Given the description of an element on the screen output the (x, y) to click on. 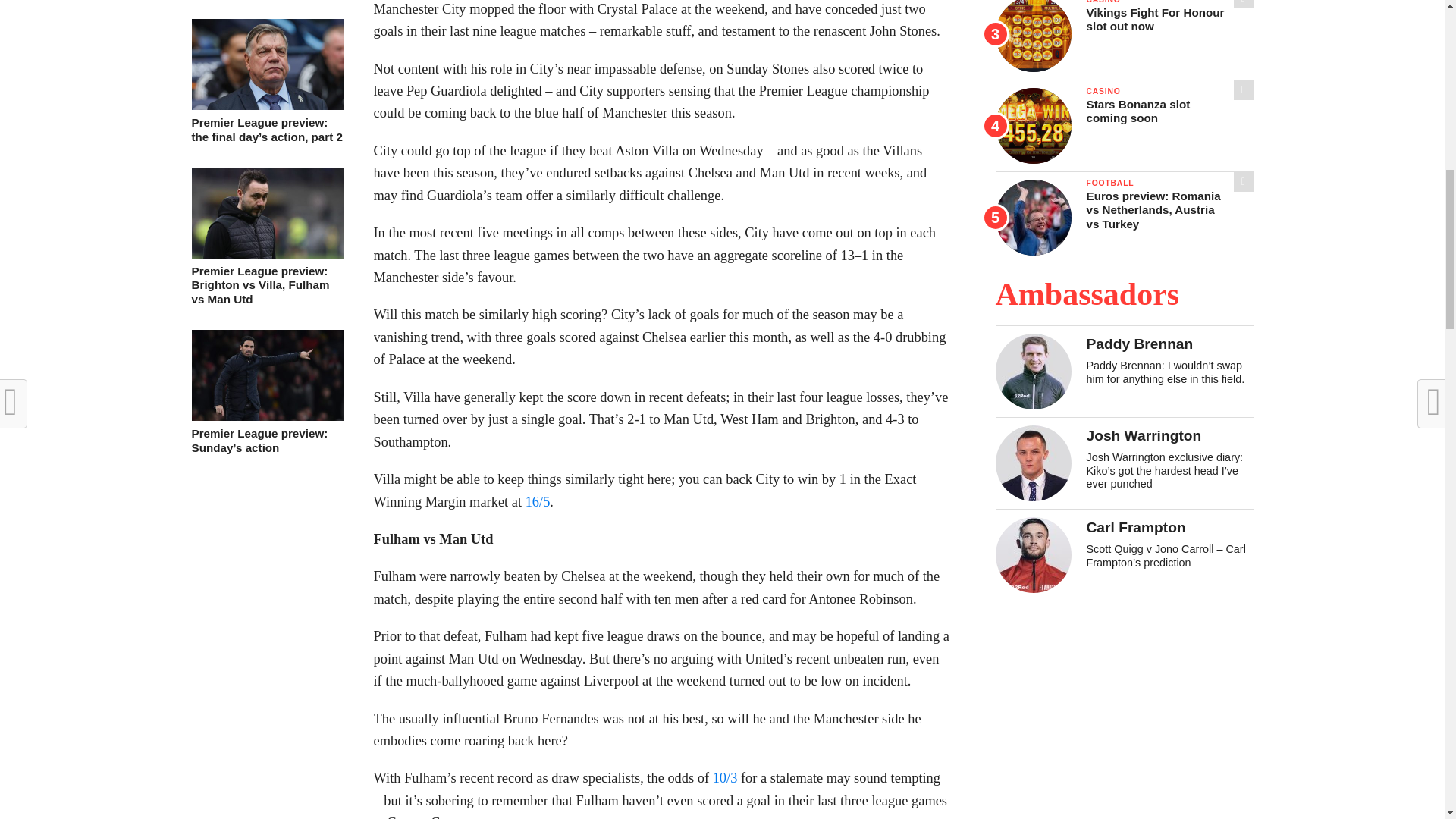
Premier League preview: Brighton vs Villa, Fulham vs Man Utd (266, 254)
